Given the description of an element on the screen output the (x, y) to click on. 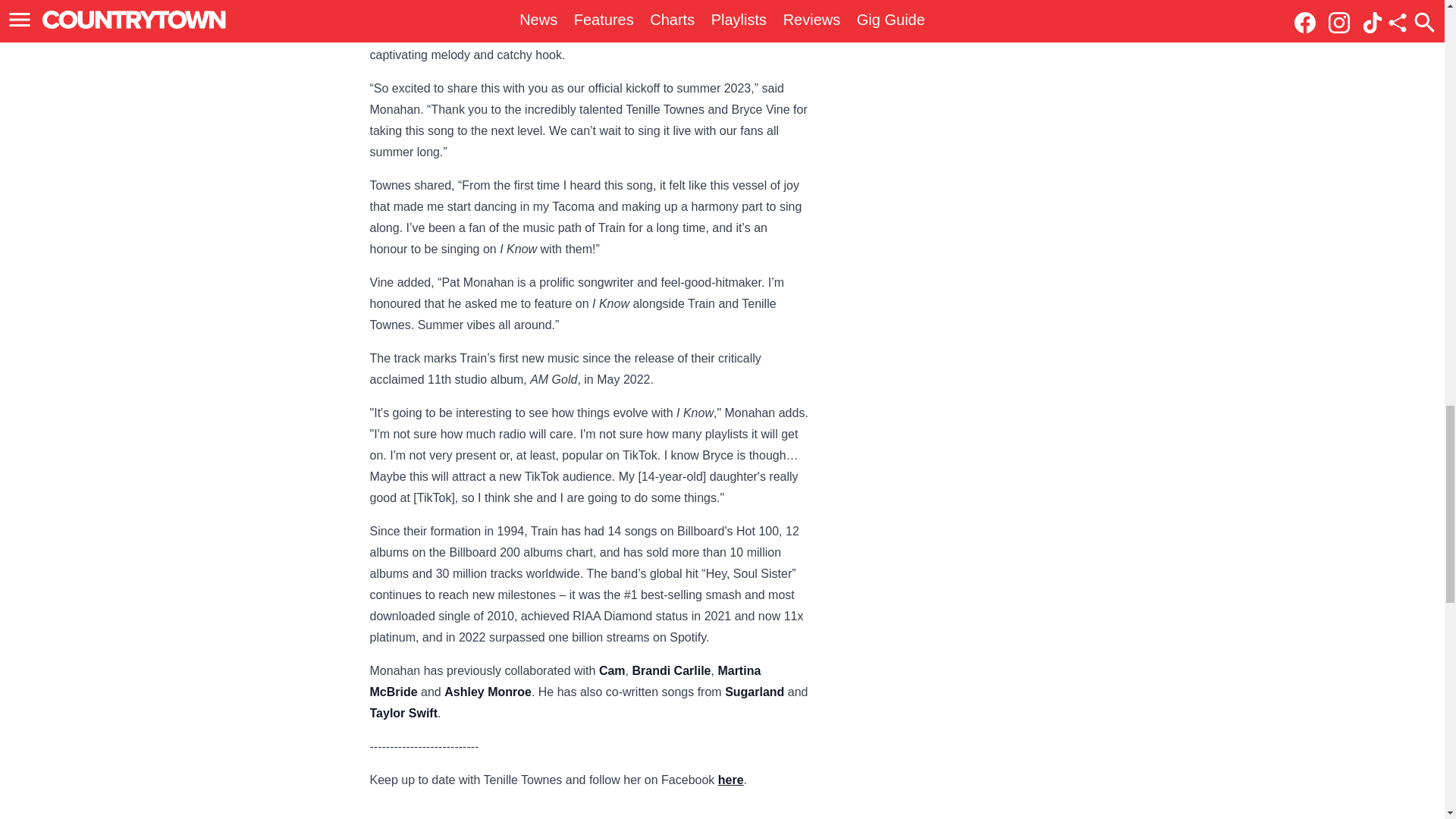
here (730, 779)
